Given the description of an element on the screen output the (x, y) to click on. 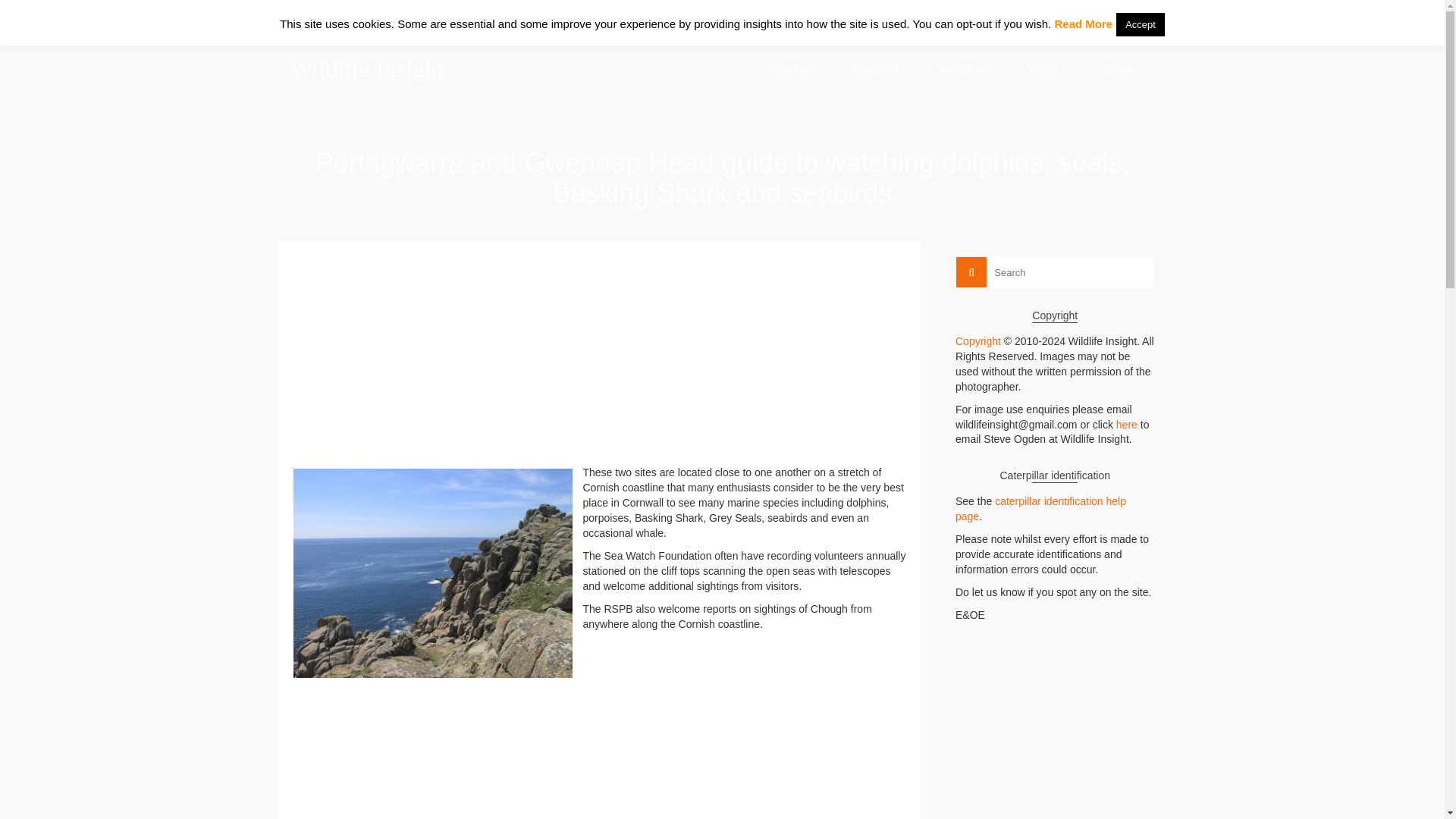
South Africa (1000, 11)
Cornwall wildlife sites (1081, 11)
Advertisement (599, 359)
